Given the description of an element on the screen output the (x, y) to click on. 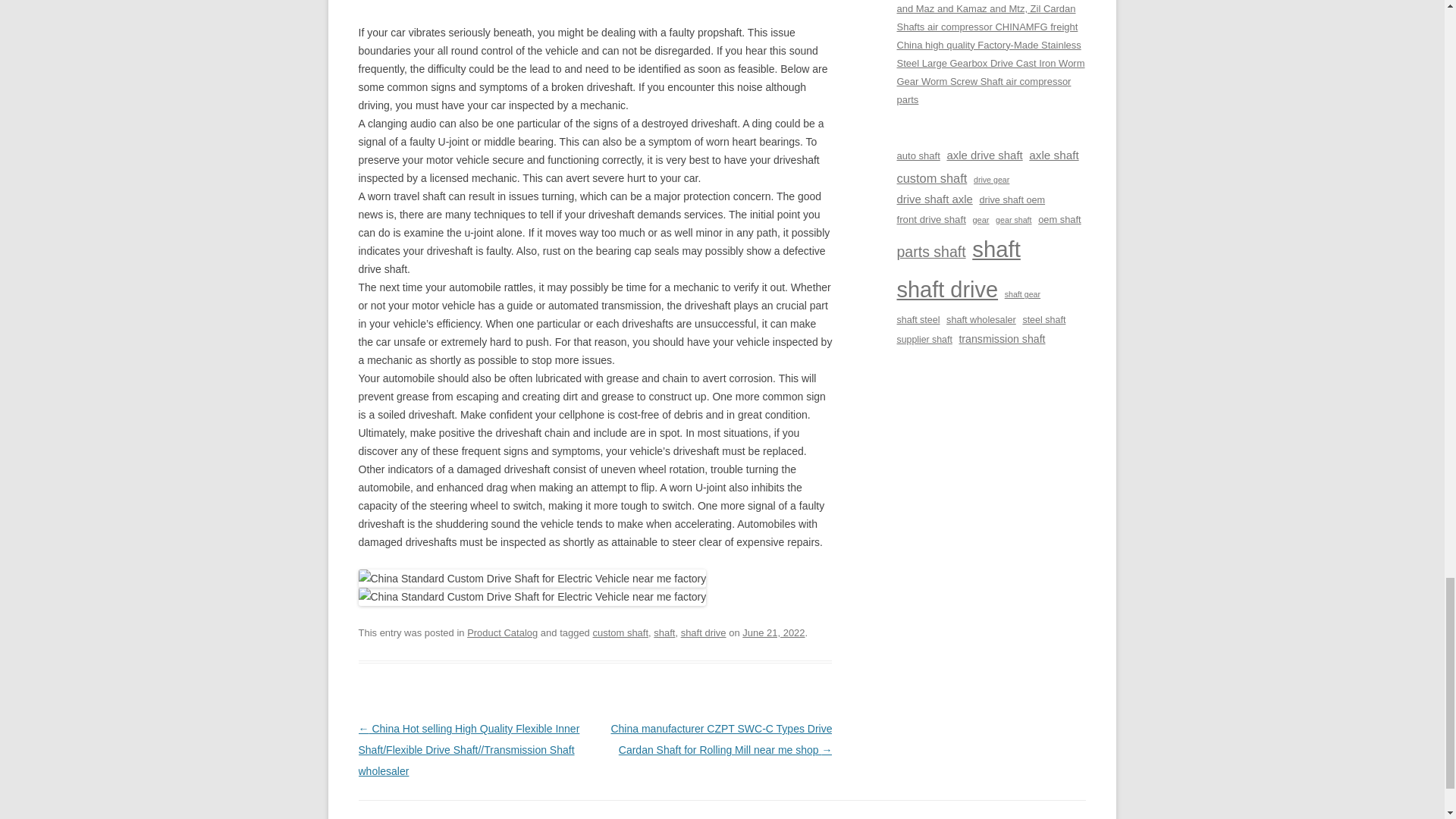
custom shaft (619, 632)
2:32 pm (773, 632)
shaft drive (703, 632)
Product Catalog (502, 632)
shaft (664, 632)
June 21, 2022 (773, 632)
